Given the description of an element on the screen output the (x, y) to click on. 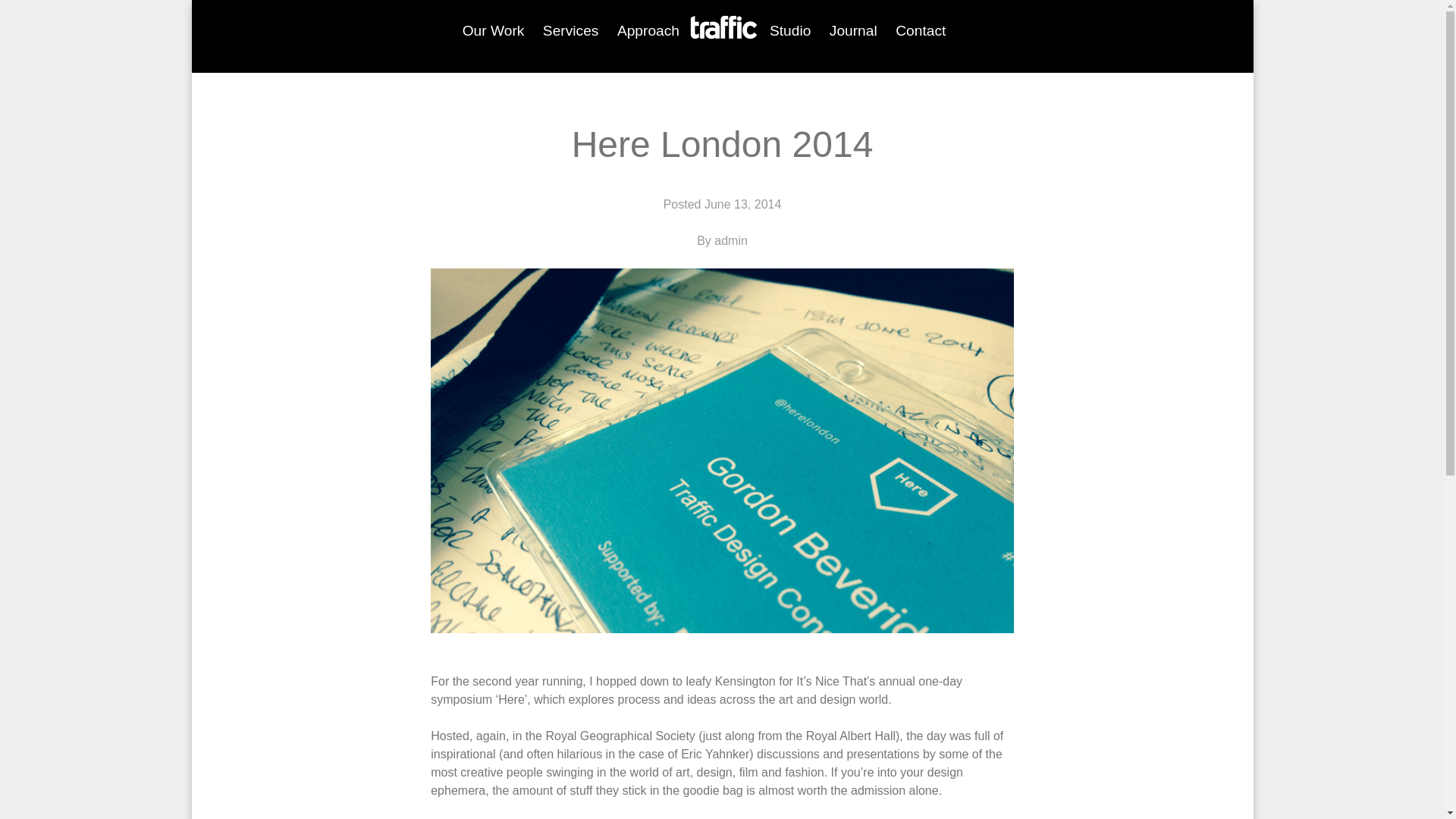
Journal (853, 30)
Approach (648, 30)
Studio (789, 30)
Services (571, 30)
Home Page (724, 30)
Our Work (493, 30)
Contact (920, 30)
